Given the description of an element on the screen output the (x, y) to click on. 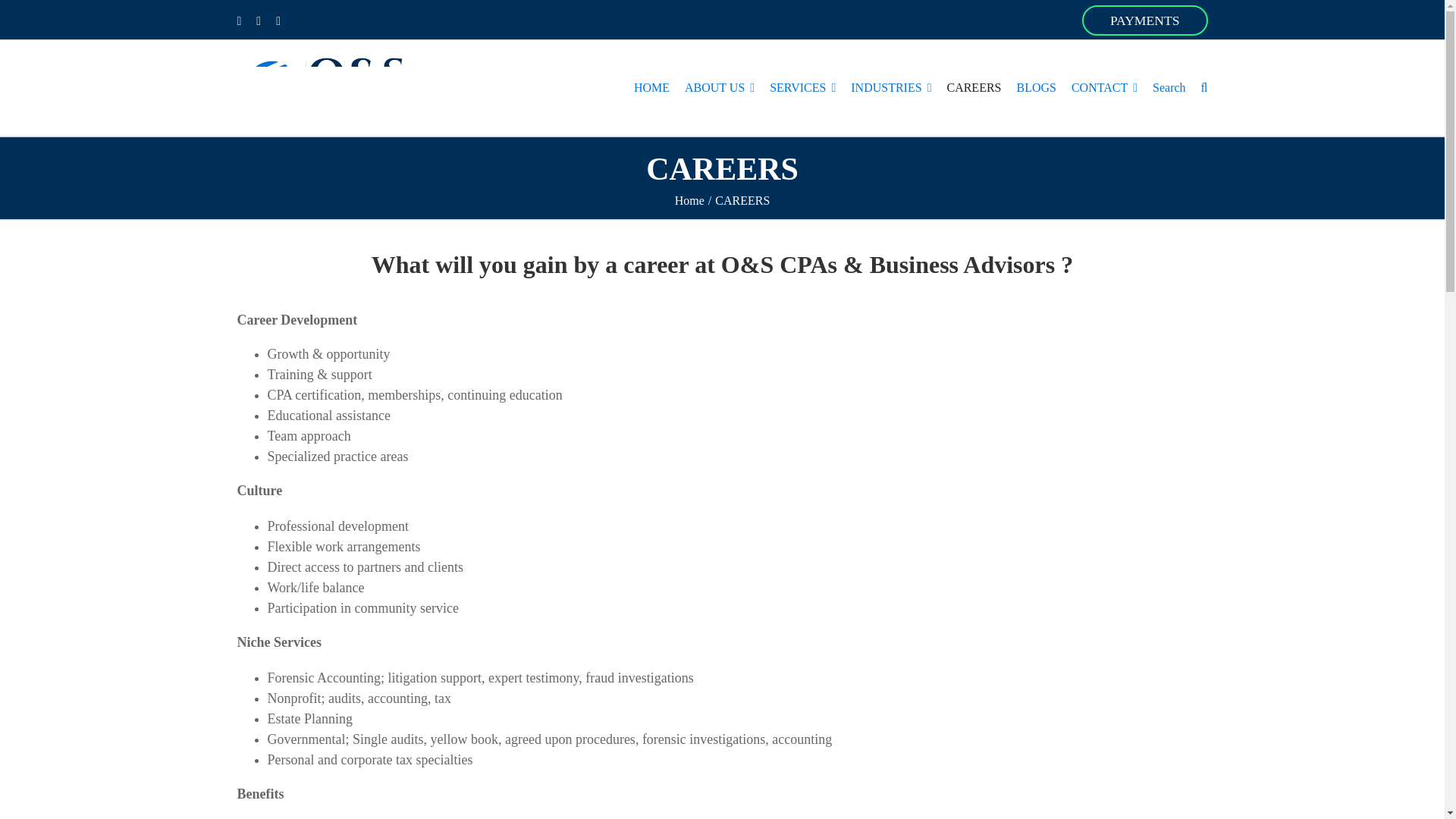
LinkedIn (258, 21)
PAYMENTS (1144, 20)
LinkedIn (258, 21)
X (278, 21)
Facebook (238, 21)
HOME (651, 87)
ABOUT US (719, 87)
X (278, 21)
SERVICES (802, 87)
Facebook (238, 21)
